Given the description of an element on the screen output the (x, y) to click on. 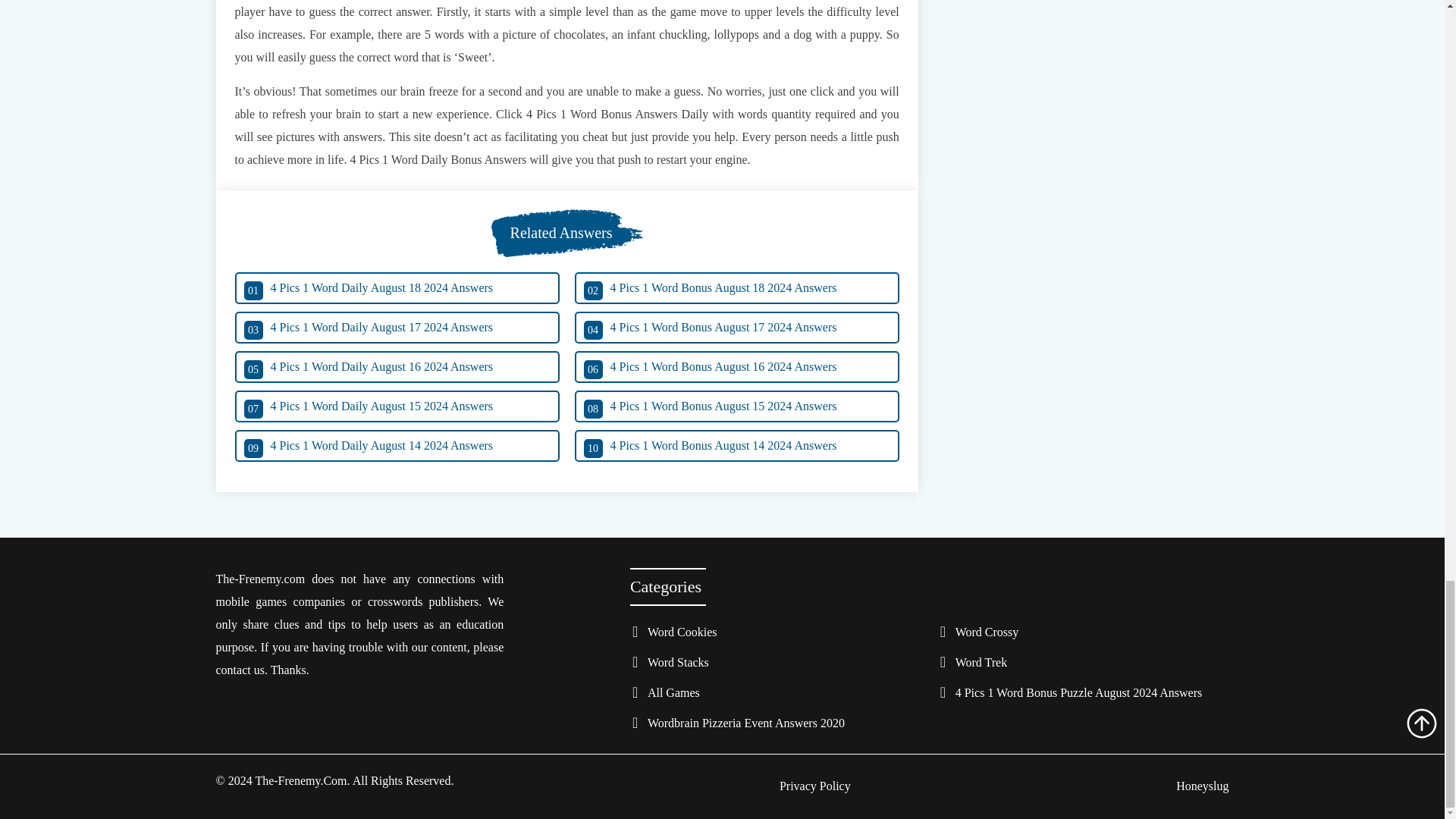
4 Pics 1 Word Bonus August 18 2024 Answers (737, 287)
4 Pics 1 Word Bonus August 16 2024 Answers (737, 367)
4 Pics 1 Word Bonus August 14 2024 Answers (737, 445)
4 Pics 1 Word Bonus August 15 2024 Answers (737, 406)
4 Pics 1 Word Daily August 15 2024 Answers (396, 406)
4 Pics 1 Word Daily August 16 2024 Answers (396, 367)
4 Pics 1 Word Daily August 18 2024 Answers (396, 287)
4 Pics 1 Word Bonus August 17 2024 Answers (737, 327)
4 Pics 1 Word Daily August 14 2024 Answers (396, 445)
4 Pics 1 Word Daily August 17 2024 Answers (396, 327)
